Given the description of an element on the screen output the (x, y) to click on. 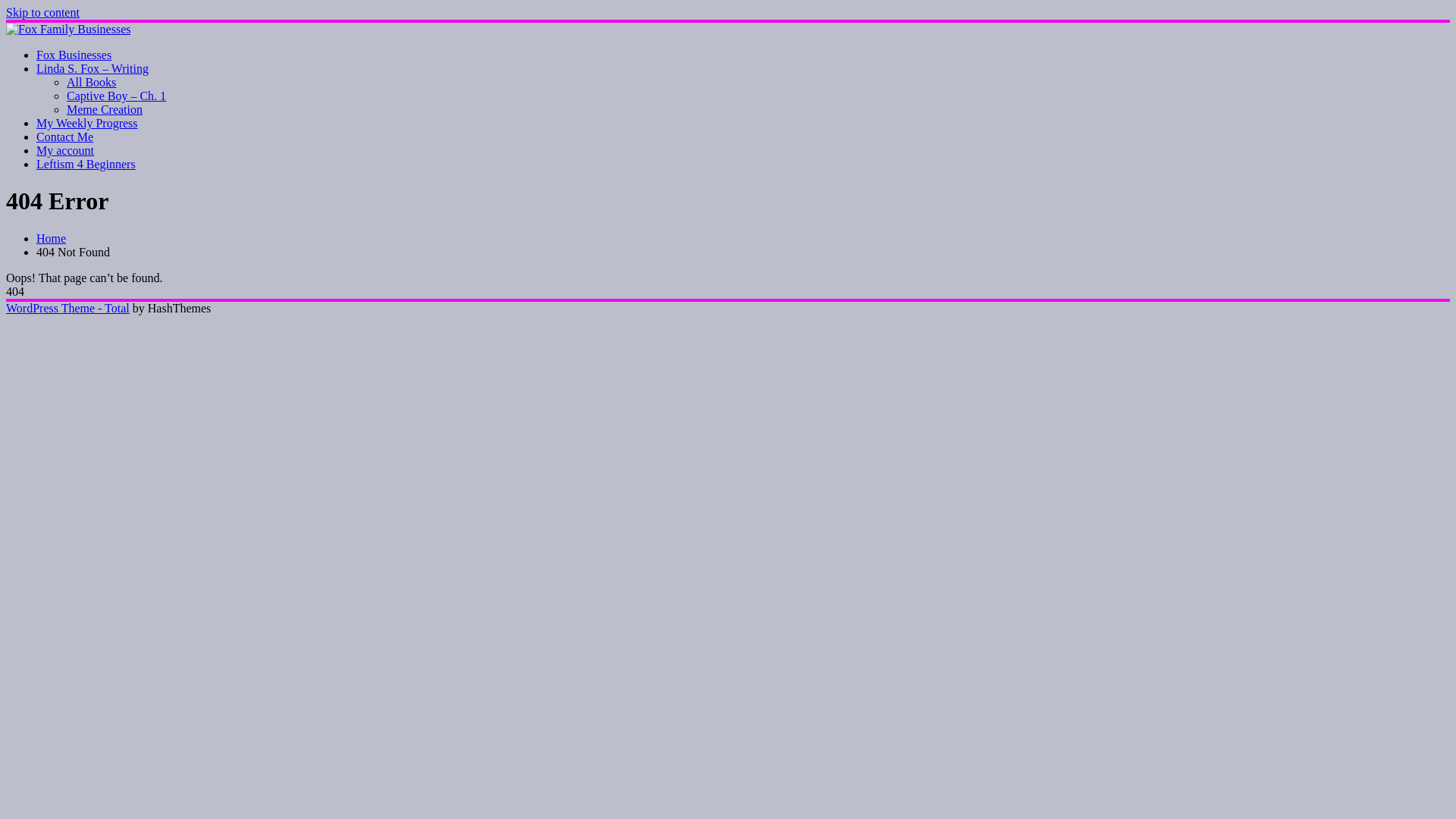
WordPress Theme - Total Element type: text (67, 307)
All Books Element type: text (91, 81)
Fox Businesses Element type: text (73, 54)
My Weekly Progress Element type: text (87, 122)
My account Element type: text (65, 150)
Skip to content Element type: text (42, 12)
Meme Creation Element type: text (104, 109)
Contact Me Element type: text (64, 136)
Home Element type: text (50, 238)
Leftism 4 Beginners Element type: text (85, 163)
